Given the description of an element on the screen output the (x, y) to click on. 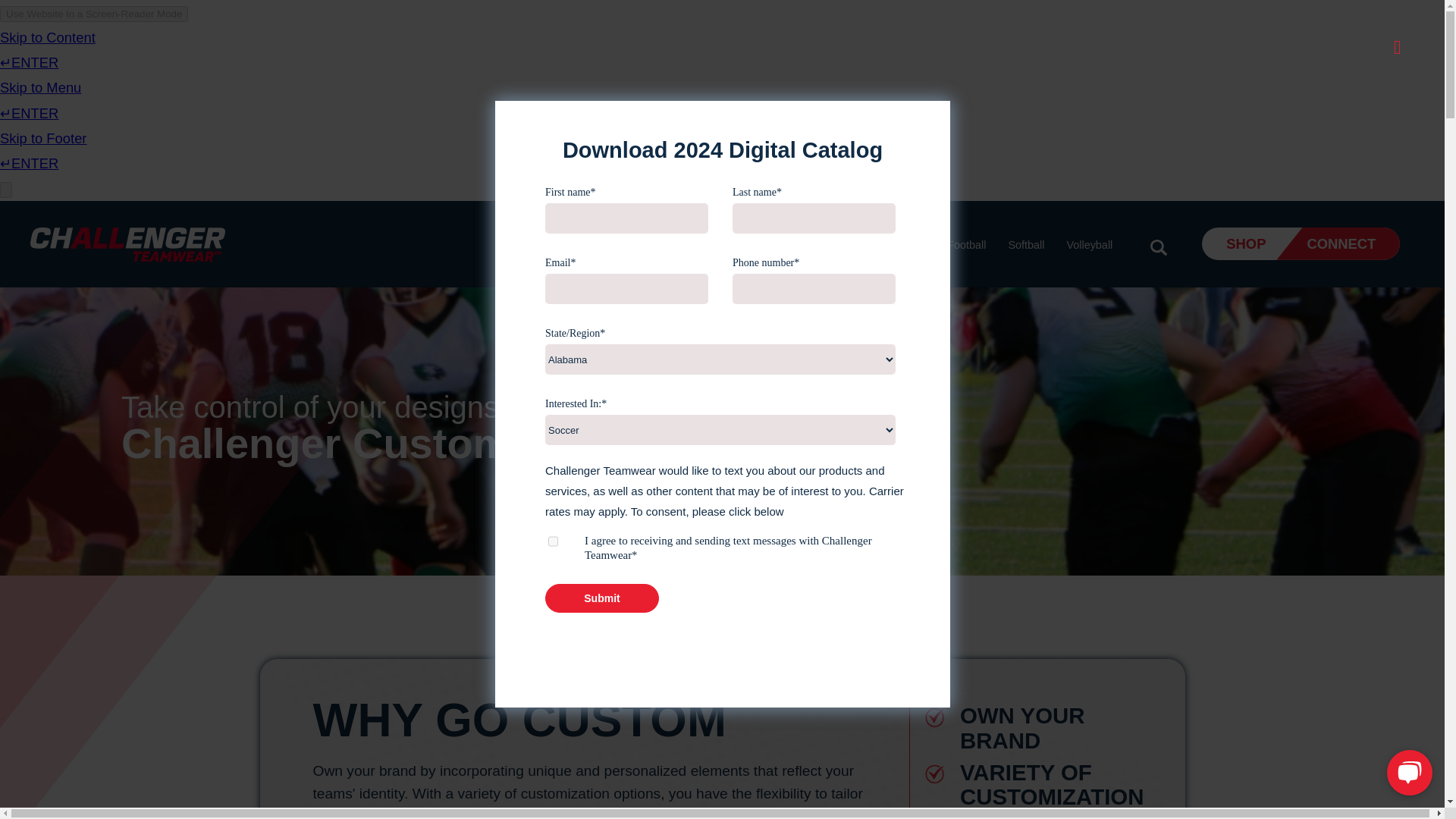
Flag Football (953, 245)
CONNECT (1337, 243)
SHOP (1251, 243)
Basketball (875, 245)
Softball (1025, 245)
Volleyball (1088, 245)
Soccer (748, 245)
Baseball (808, 245)
challenger-teamwear-logo (127, 244)
